Given the description of an element on the screen output the (x, y) to click on. 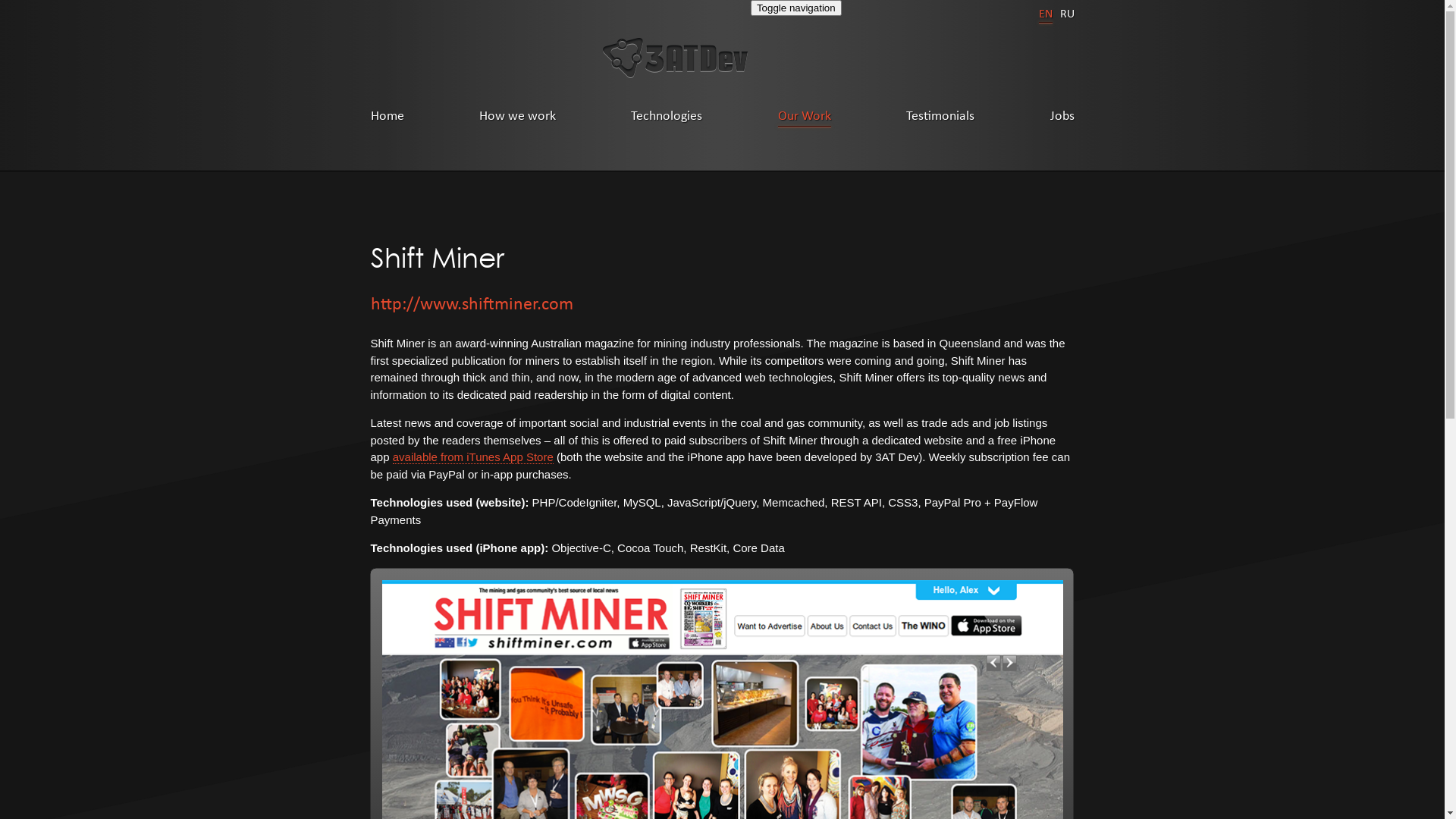
How we work Element type: text (517, 114)
Toggle navigation Element type: text (795, 7)
Home Element type: text (386, 114)
available from iTunes App Store Element type: text (472, 457)
  Element type: text (674, 57)
Jobs Element type: text (1062, 114)
Technologies Element type: text (666, 114)
Our Work Element type: text (804, 114)
EN Element type: text (1045, 14)
Testimonials Element type: text (940, 114)
http://www.shiftminer.com Element type: text (721, 303)
RU Element type: text (1067, 13)
